Given the description of an element on the screen output the (x, y) to click on. 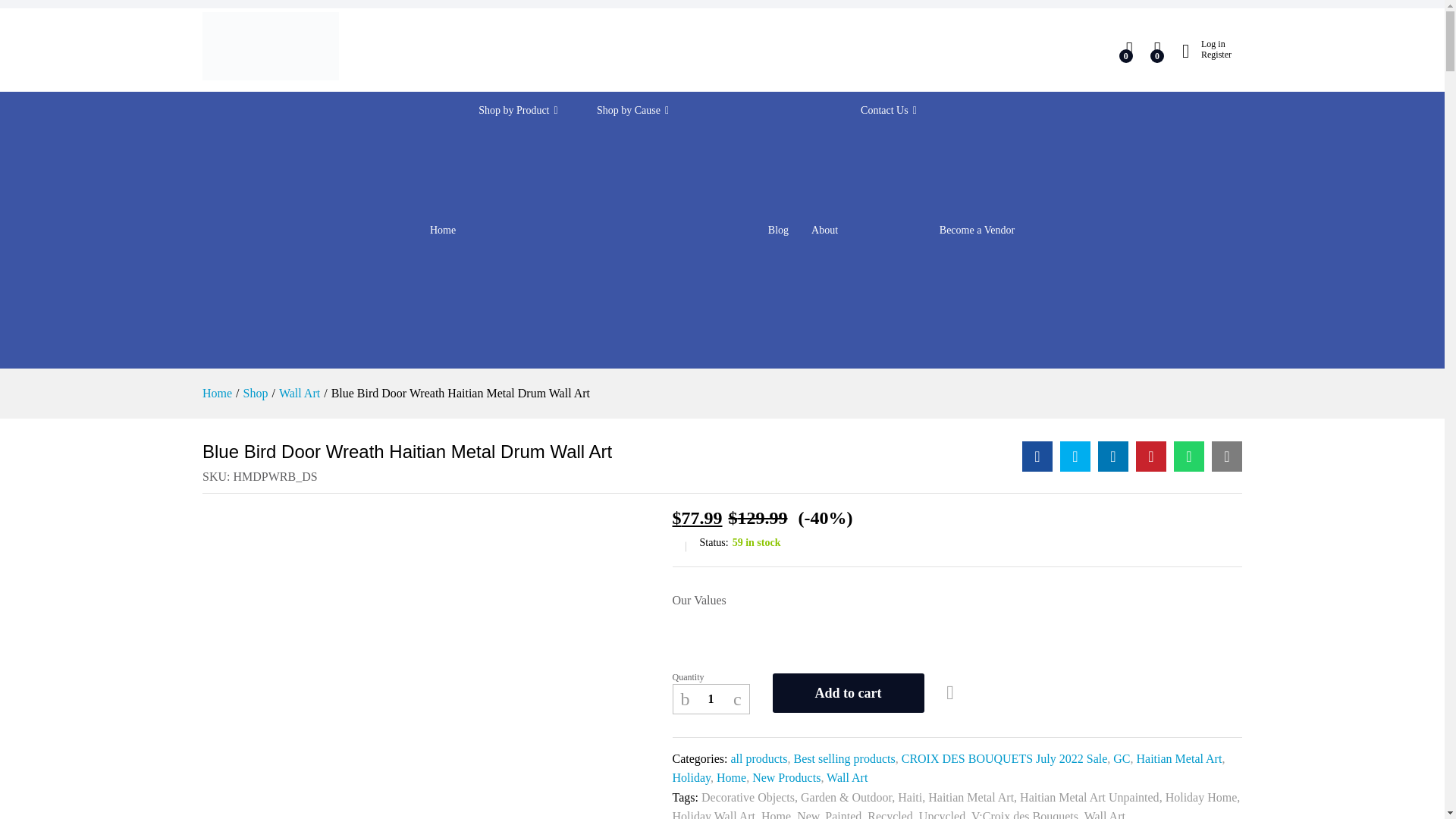
Shop by Product (525, 110)
Shop by Cause (670, 110)
Qty (710, 698)
Contact Us (888, 110)
Blog (778, 230)
1 (710, 698)
Home (442, 230)
Become a Vendor (976, 230)
Add to wishlist (952, 692)
Register (1206, 54)
